Given the description of an element on the screen output the (x, y) to click on. 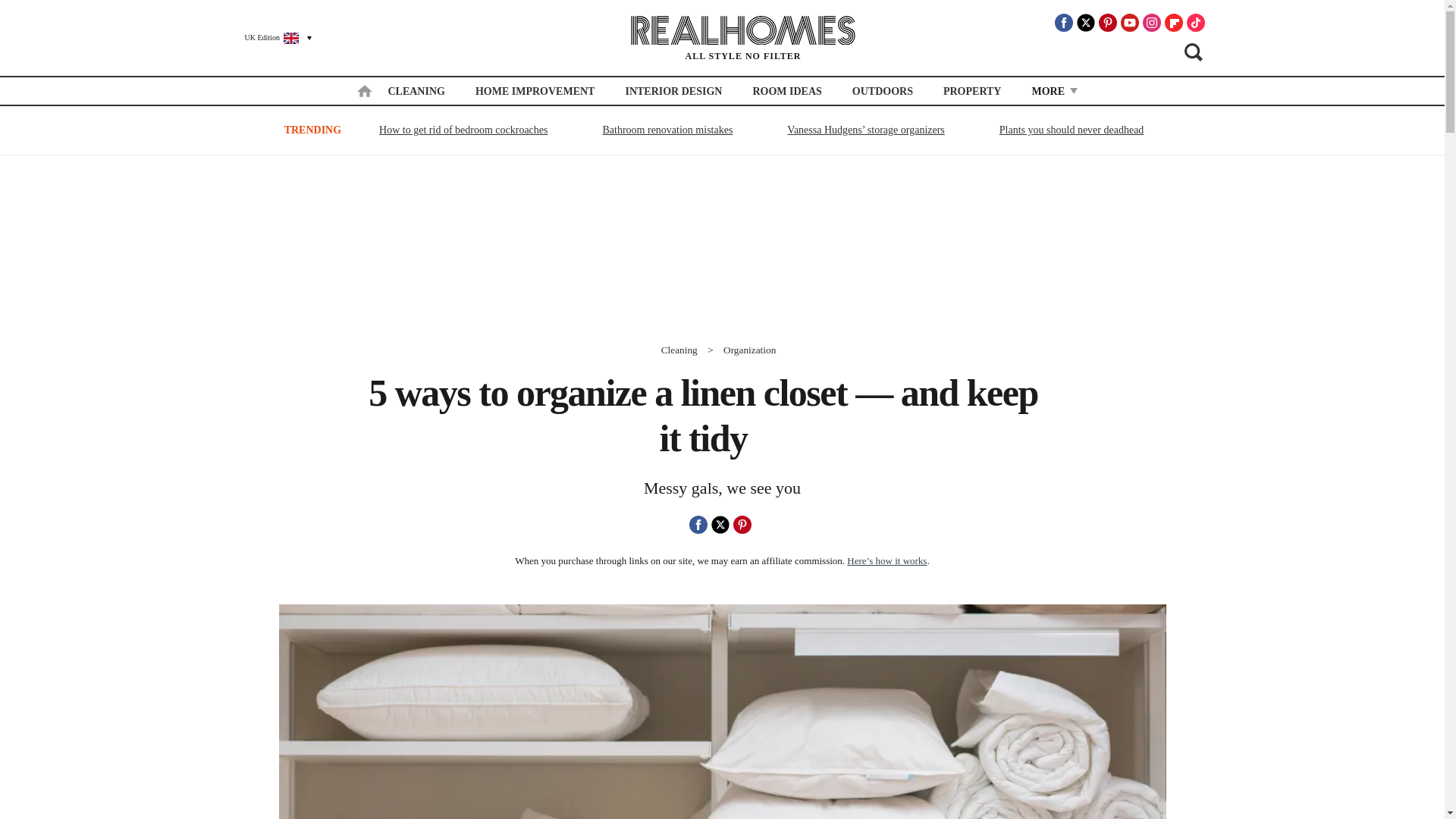
CLEANING (415, 90)
Bathroom renovation mistakes (667, 129)
UK Edition (271, 37)
Cleaning (679, 349)
Plants you should never deadhead (1072, 129)
OUTDOORS (881, 90)
PROPERTY (972, 90)
INTERIOR DESIGN (673, 90)
HOME IMPROVEMENT (535, 90)
Organization (749, 349)
